Given the description of an element on the screen output the (x, y) to click on. 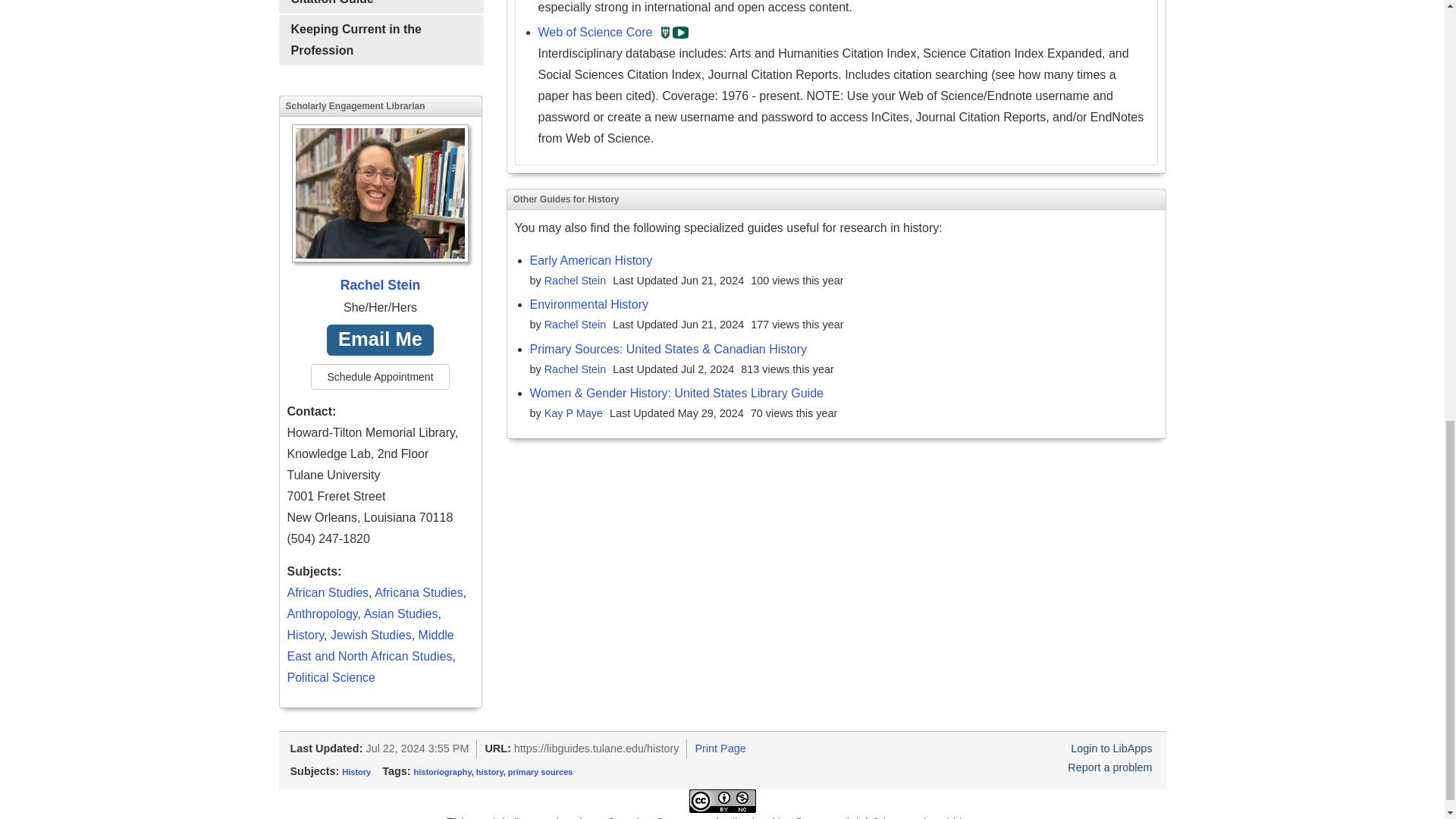
Keeping Current in the Profession (381, 40)
Email Me (379, 339)
Political Science (330, 676)
African Studies (327, 592)
Middle East and North African Studies (369, 645)
Rachel Stein (379, 210)
Jewish Studies (371, 634)
Citation Guide (381, 6)
Asian Studies (401, 613)
Anthropology (321, 613)
Resources for citing your sources. (381, 6)
Africana Studies (418, 592)
History (304, 634)
Schedule Appointment (379, 376)
